Given the description of an element on the screen output the (x, y) to click on. 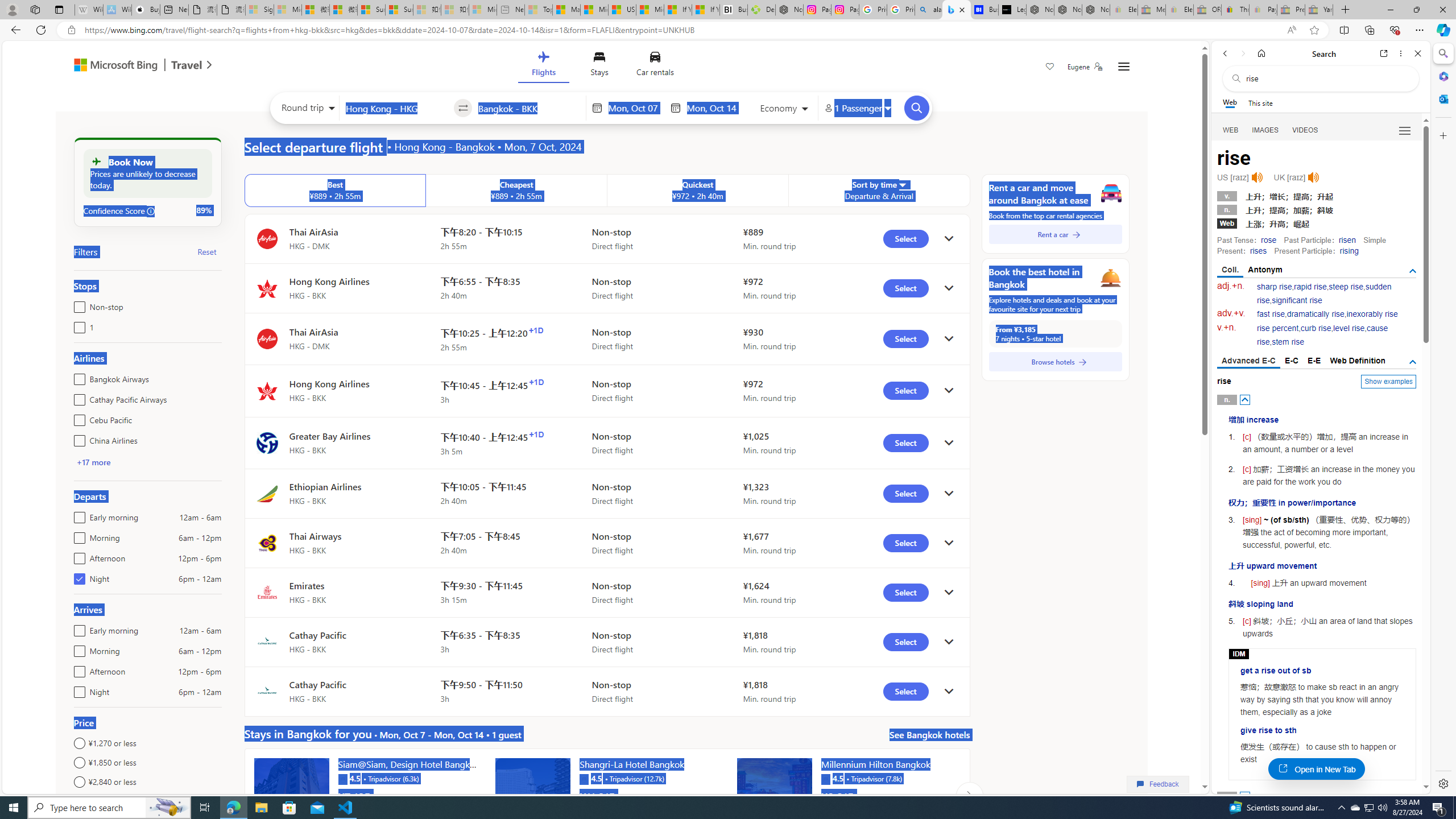
End date (713, 107)
rapid rise (1310, 286)
Night6pm - 12am (76, 689)
inexorably rise (1371, 313)
sudden rise (1323, 293)
level rise (1349, 328)
